Given the description of an element on the screen output the (x, y) to click on. 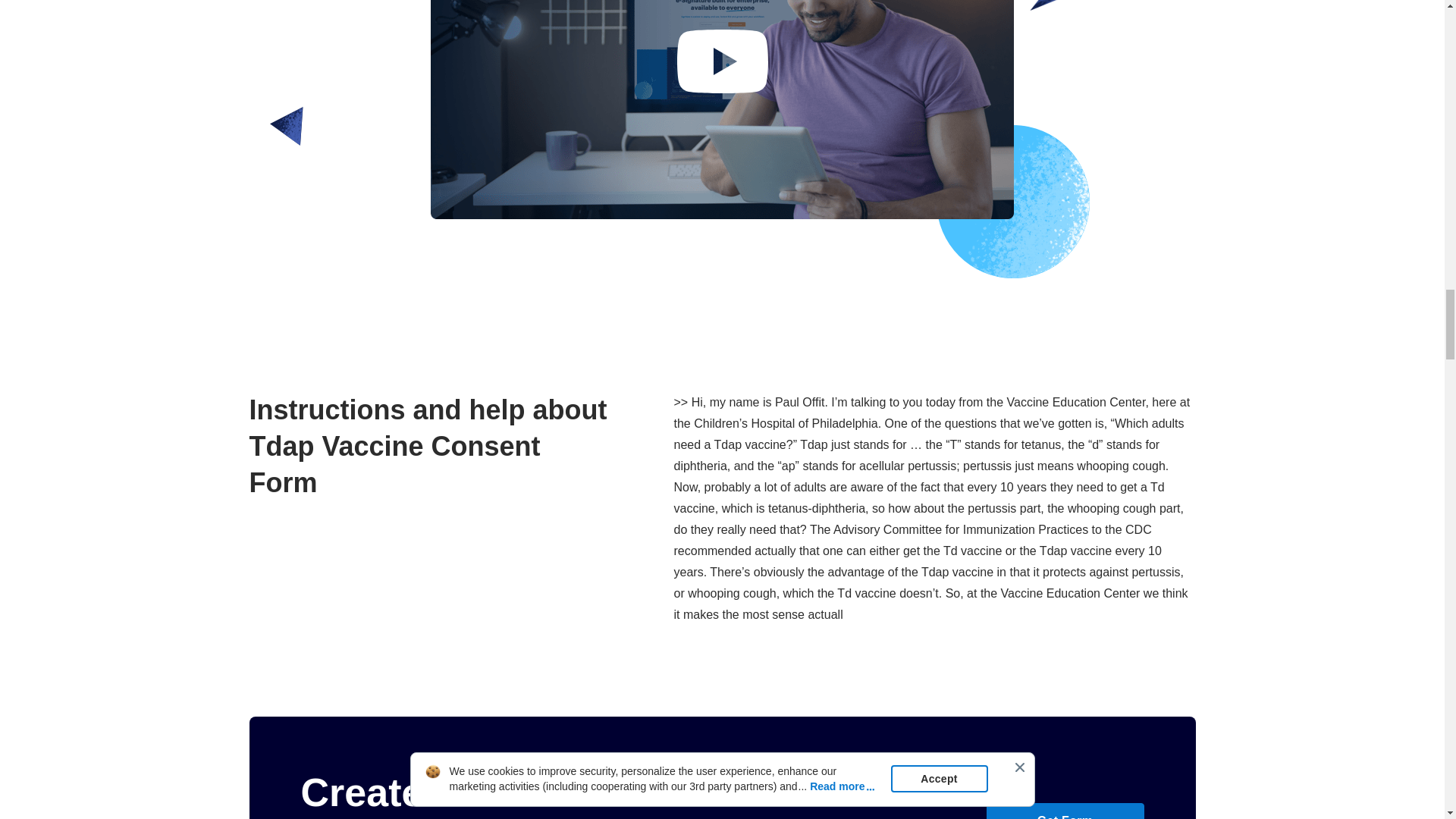
Get Form (1063, 811)
